Given the description of an element on the screen output the (x, y) to click on. 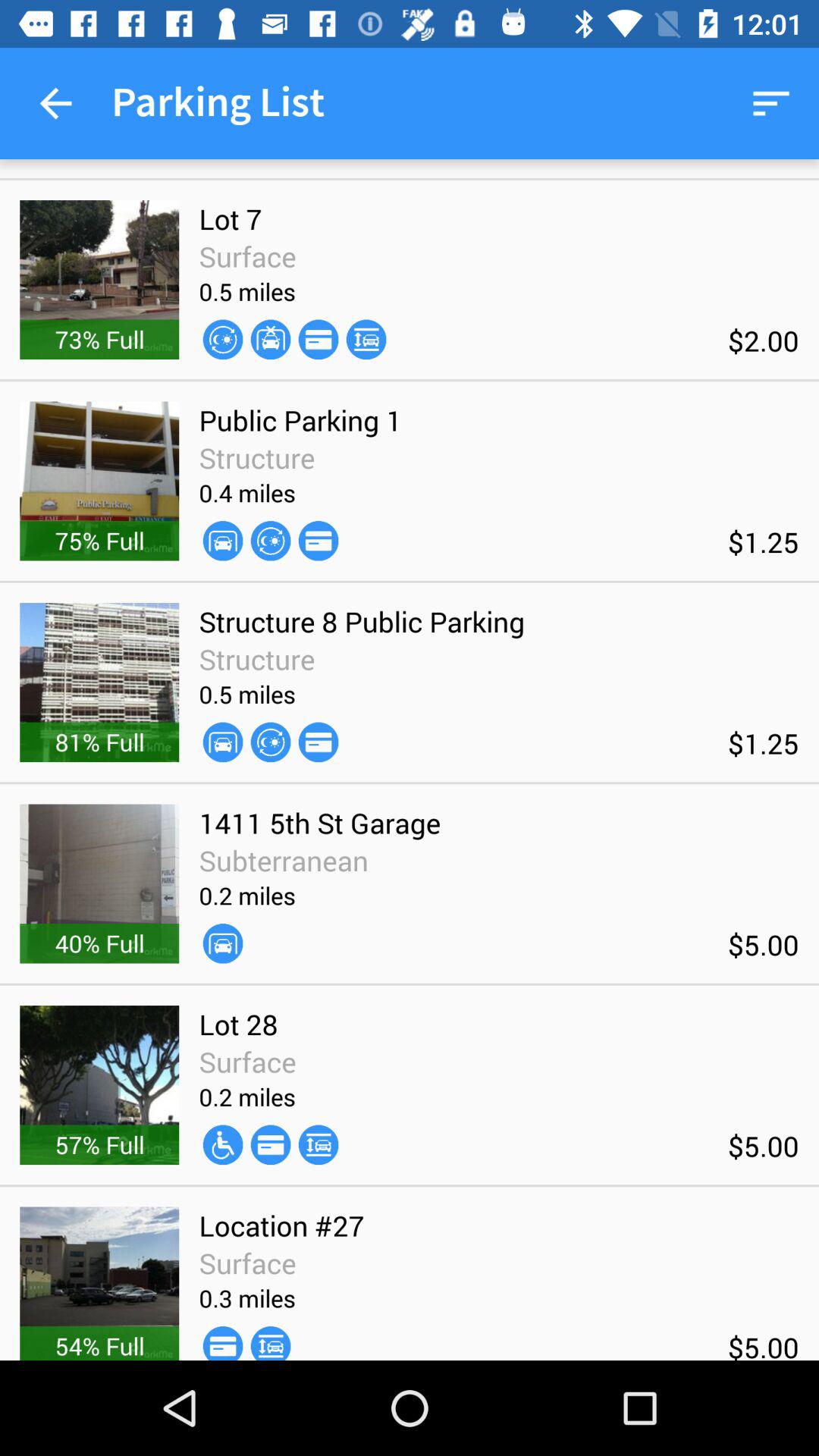
jump to the 54% full icon (99, 1344)
